Given the description of an element on the screen output the (x, y) to click on. 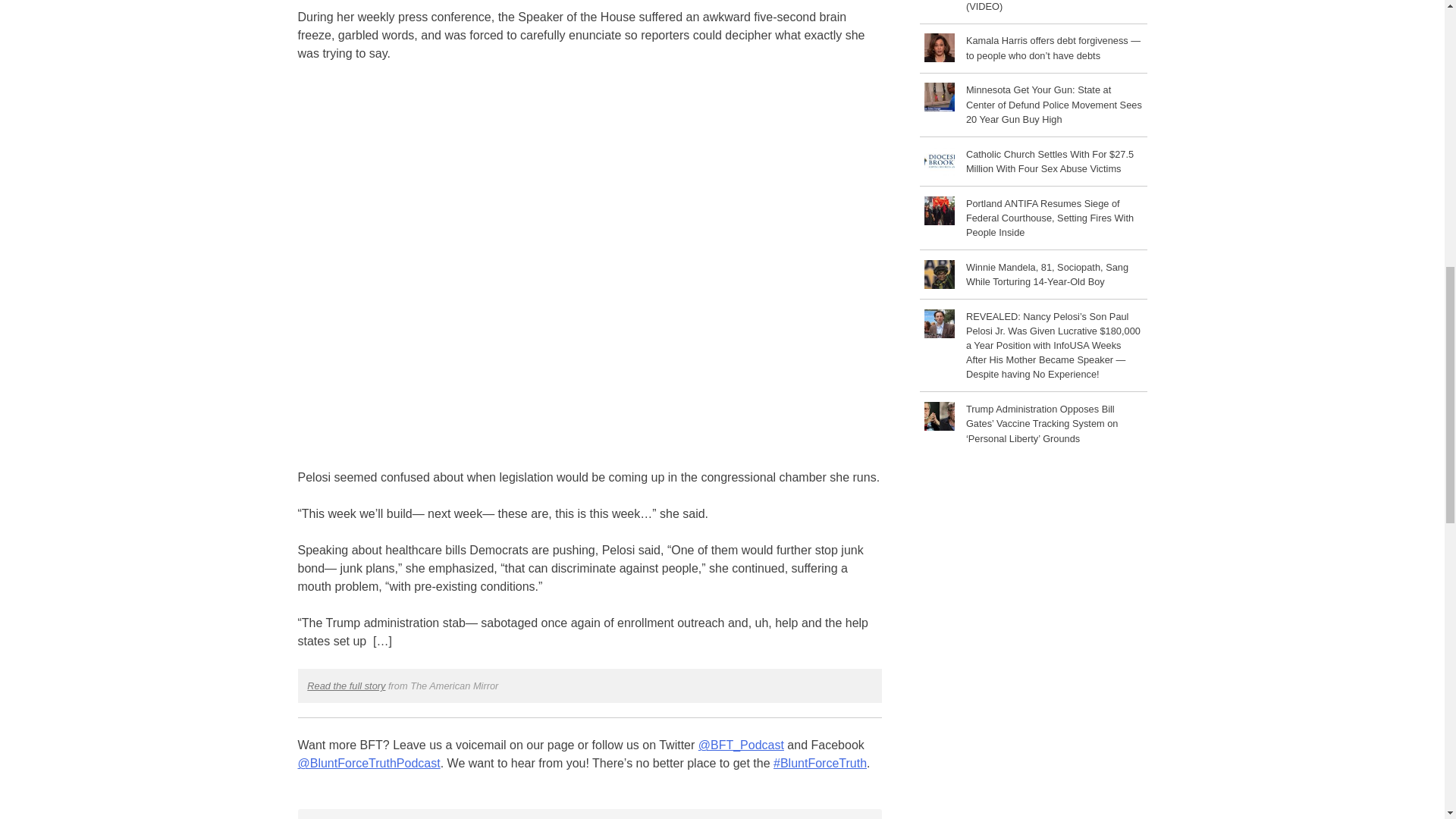
Read the full story (346, 685)
See All Comments (588, 814)
